Given the description of an element on the screen output the (x, y) to click on. 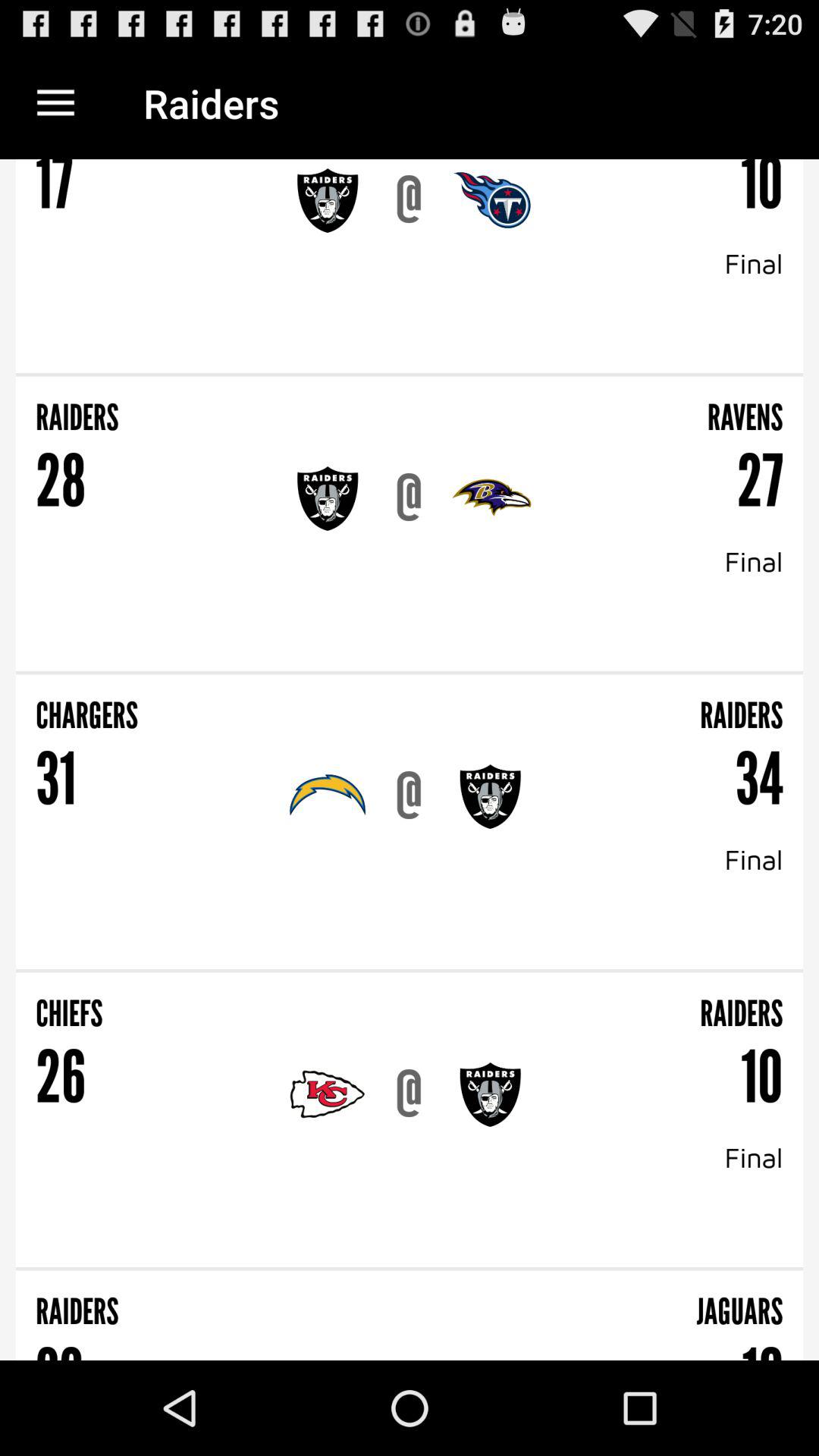
press the icon above the 26 item (218, 1003)
